Given the description of an element on the screen output the (x, y) to click on. 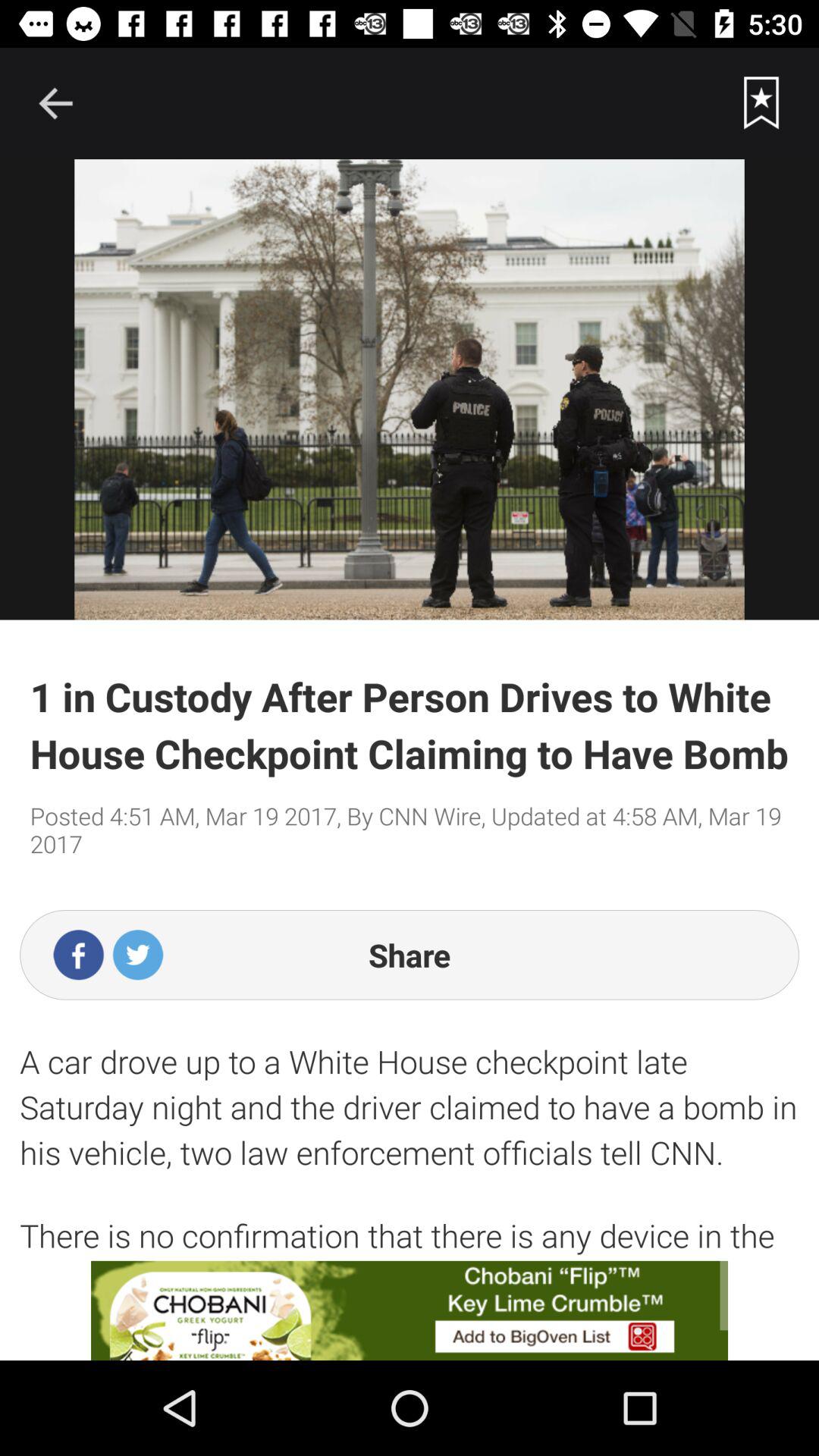
advertisement (409, 1310)
